Given the description of an element on the screen output the (x, y) to click on. 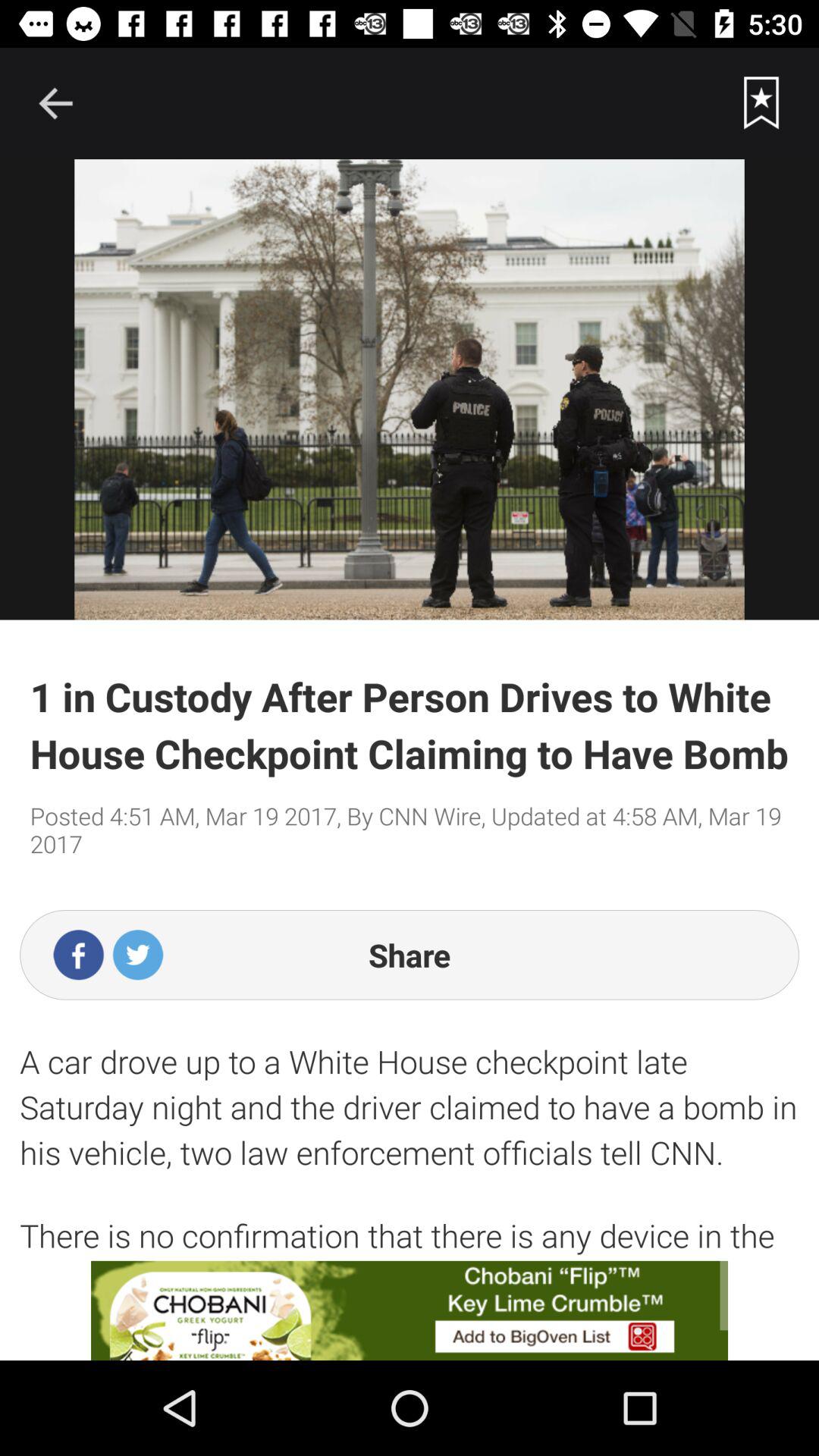
advertisement (409, 1310)
